Given the description of an element on the screen output the (x, y) to click on. 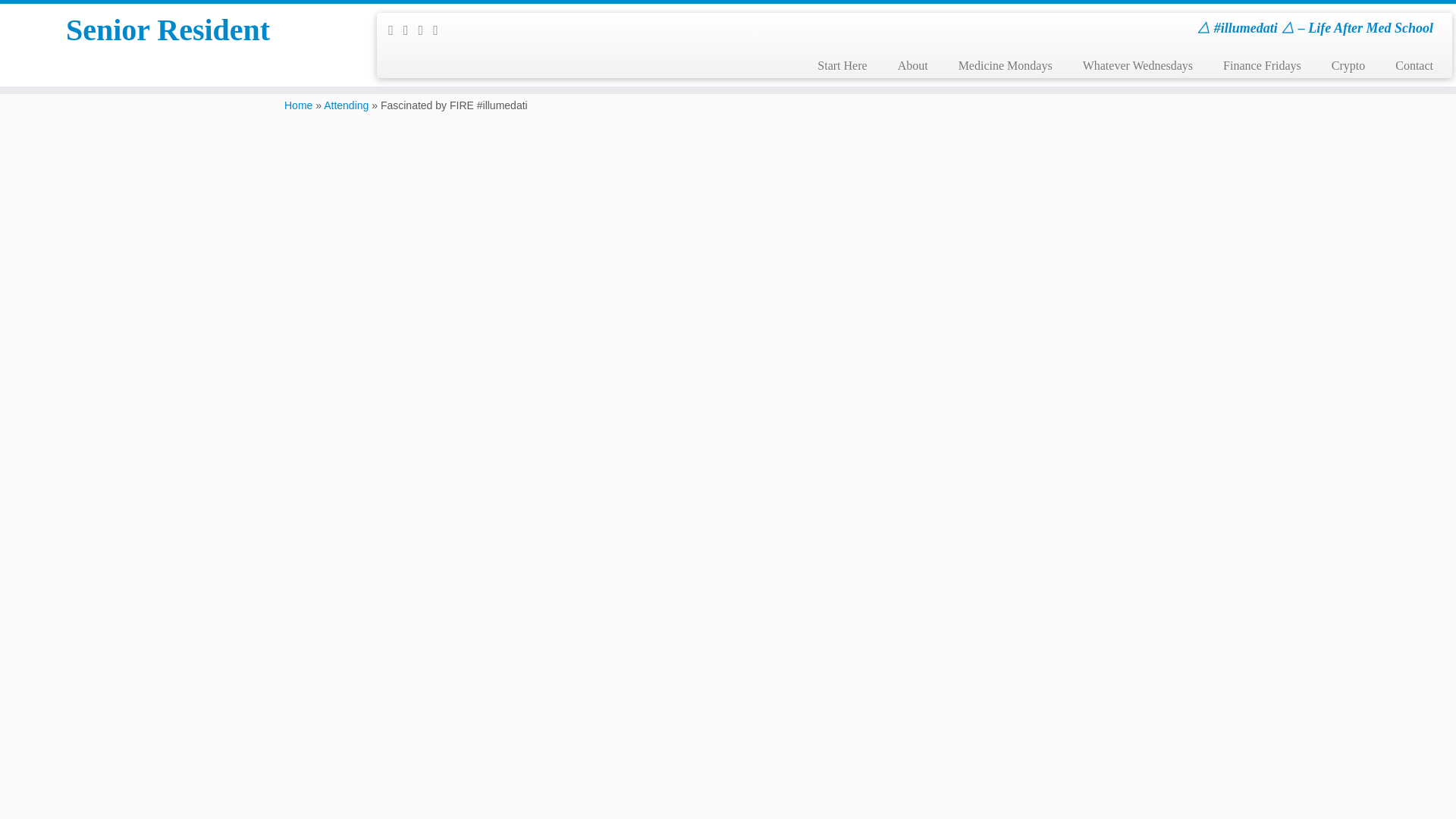
Follow me on Twitter (411, 29)
E-mail (395, 29)
Follow me on LinkedIn (440, 29)
Follow me on Facebook (426, 29)
